Given the description of an element on the screen output the (x, y) to click on. 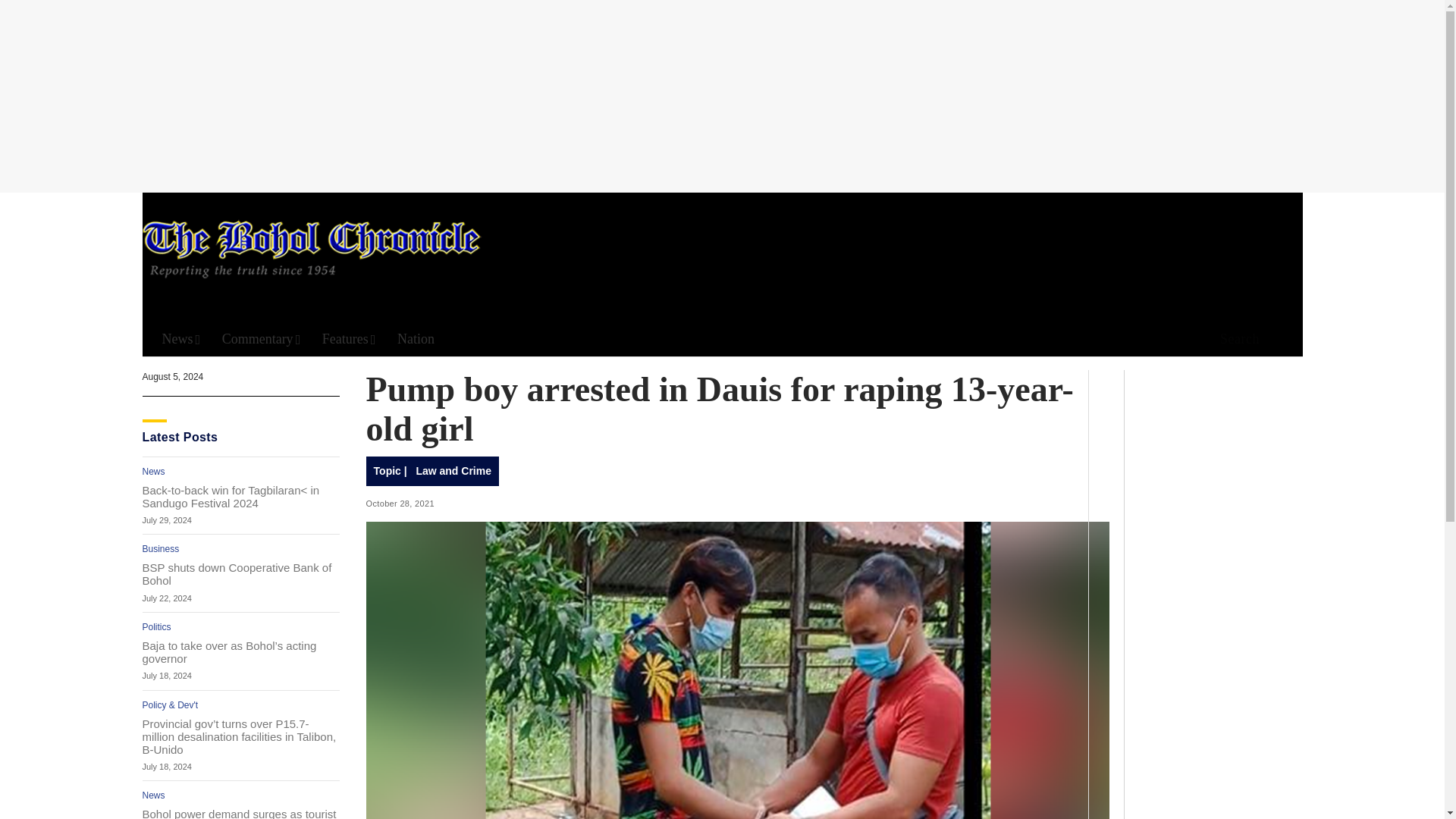
Search (1234, 339)
Features (348, 339)
BSP shuts down Cooperative Bank of Bohol (240, 574)
Commentary (261, 339)
Bohol power demand surges as tourist arrivals rise (240, 813)
News (153, 471)
Search (946, 157)
Politics (156, 626)
News (180, 339)
News (153, 795)
